Given the description of an element on the screen output the (x, y) to click on. 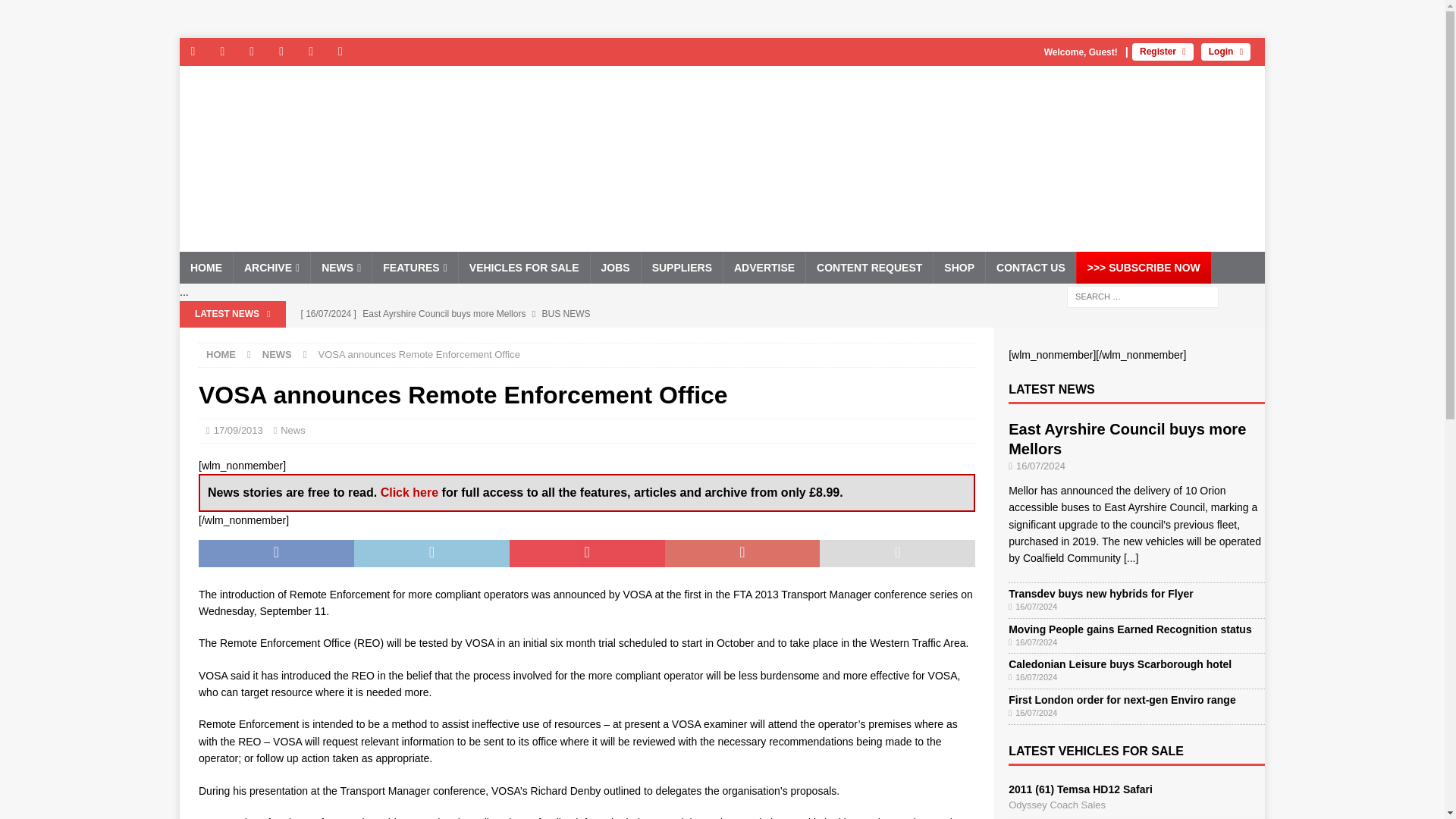
HOME (205, 267)
CONTACT US (1030, 267)
ADVERTISE (763, 267)
Register (1162, 51)
SHOP (959, 267)
Login (1225, 51)
ARCHIVE (271, 267)
East Ayrshire Council buys more Mellors (589, 313)
CONTENT REQUEST (869, 267)
JOBS (614, 267)
Transdev buys new hybrids for Flyer (589, 339)
SUPPLIERS (681, 267)
NEWS (340, 267)
FEATURES (414, 267)
VEHICLES FOR SALE (523, 267)
